Given the description of an element on the screen output the (x, y) to click on. 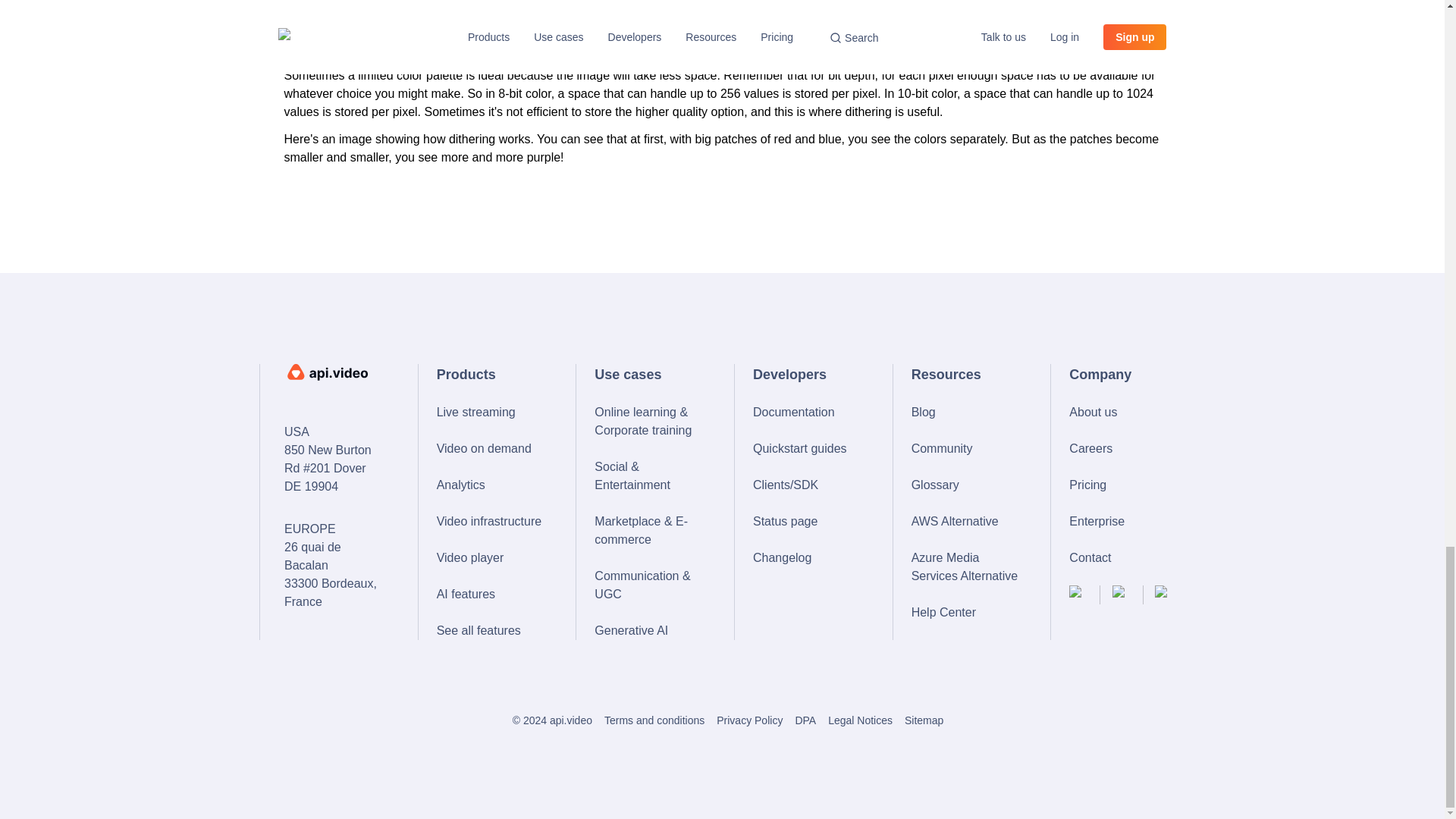
Video infrastructure (491, 521)
Video on demand (491, 448)
Live streaming (491, 412)
Video player (491, 557)
Analytics (491, 484)
